Given the description of an element on the screen output the (x, y) to click on. 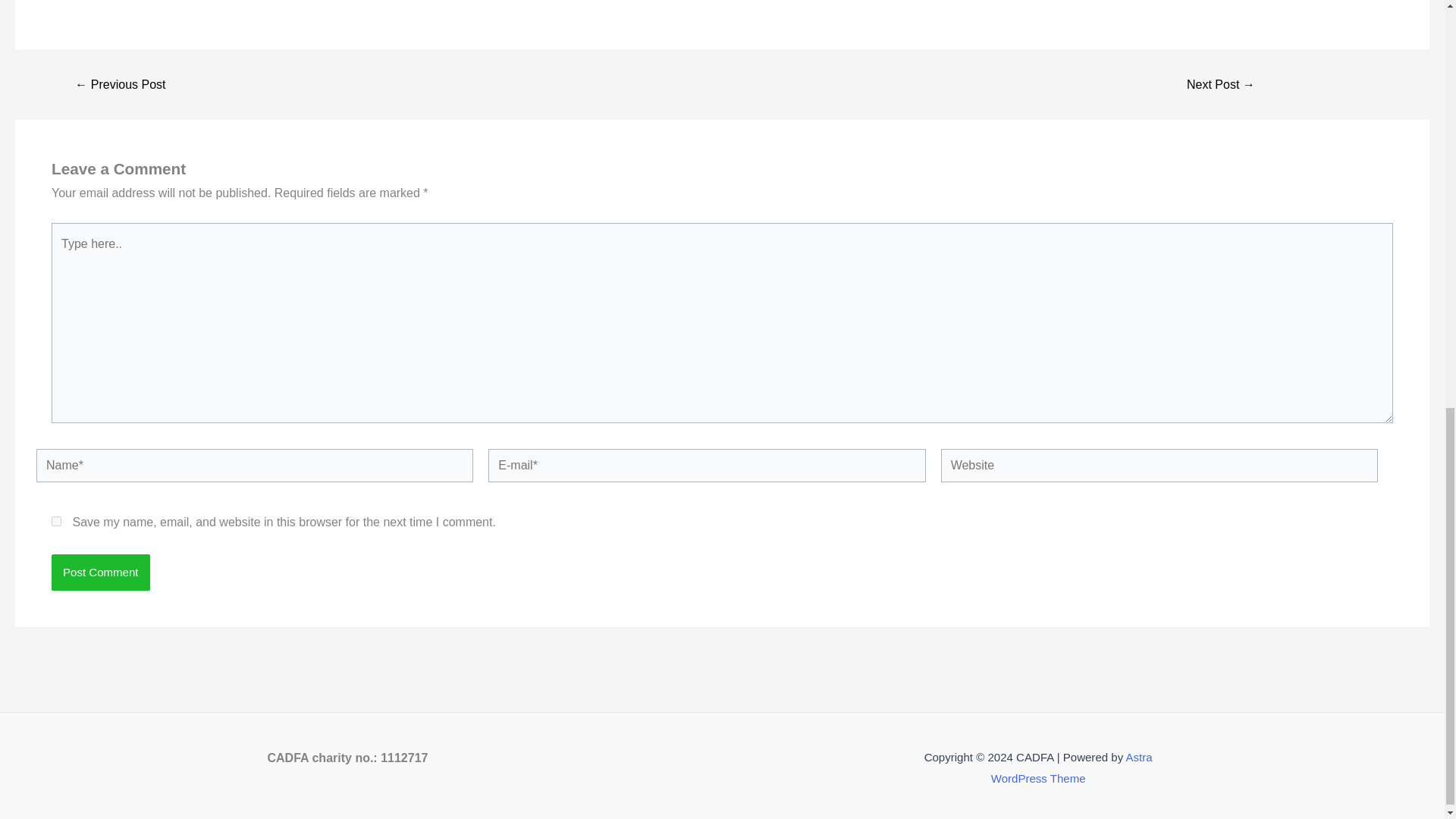
Book of Condolences for Ata Elayyan. (1220, 84)
yes (55, 521)
Post Comment (99, 572)
Waleed Sharaf (119, 84)
